Given the description of an element on the screen output the (x, y) to click on. 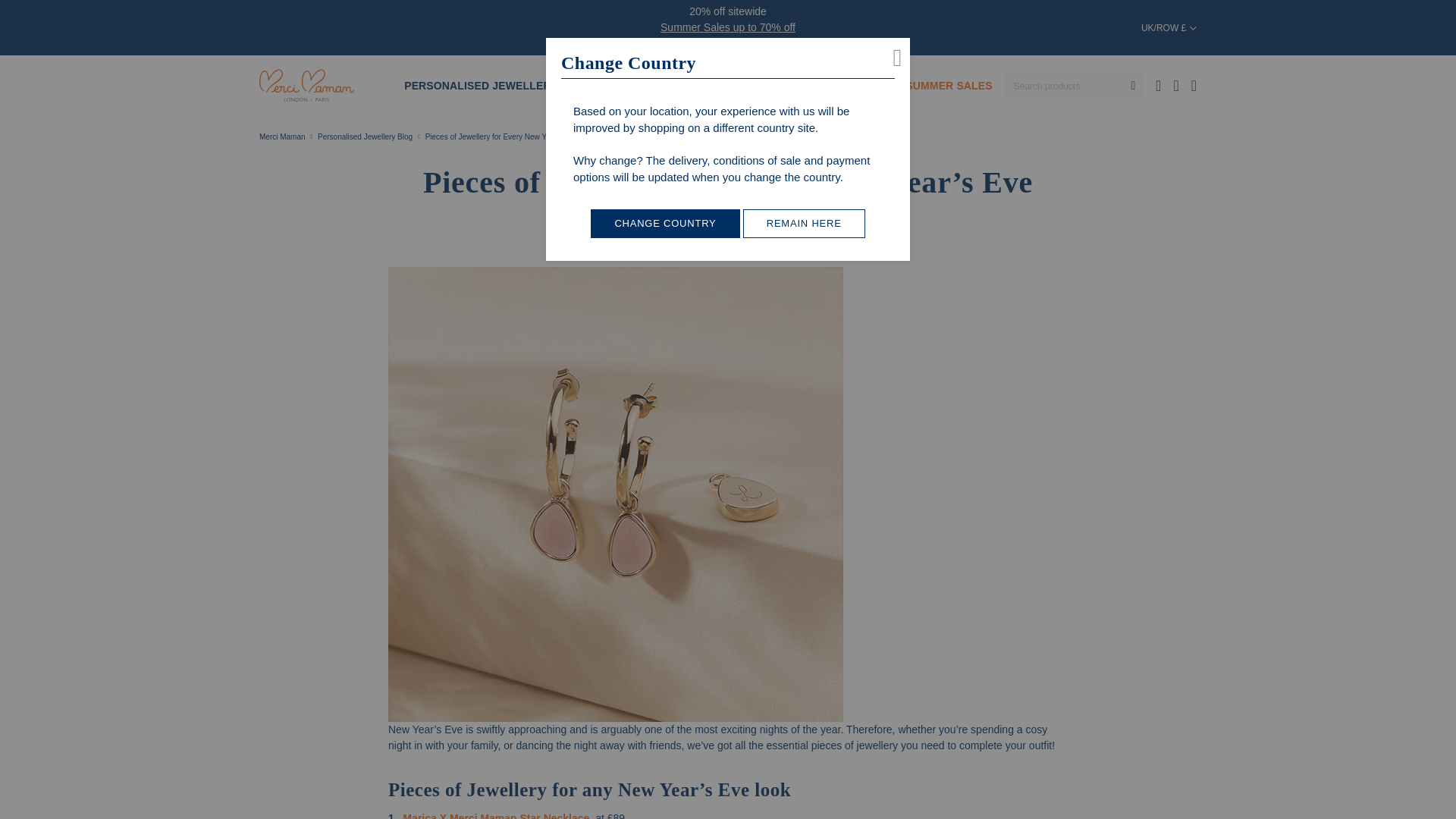
Merci Maman (306, 85)
Go to Home Page (282, 136)
NEW IN (601, 84)
BESTSELLERS (684, 84)
Personalised Jewellery Blog (364, 136)
GIFTS (763, 84)
PERSONALISED JEWELLERY (480, 84)
